Given the description of an element on the screen output the (x, y) to click on. 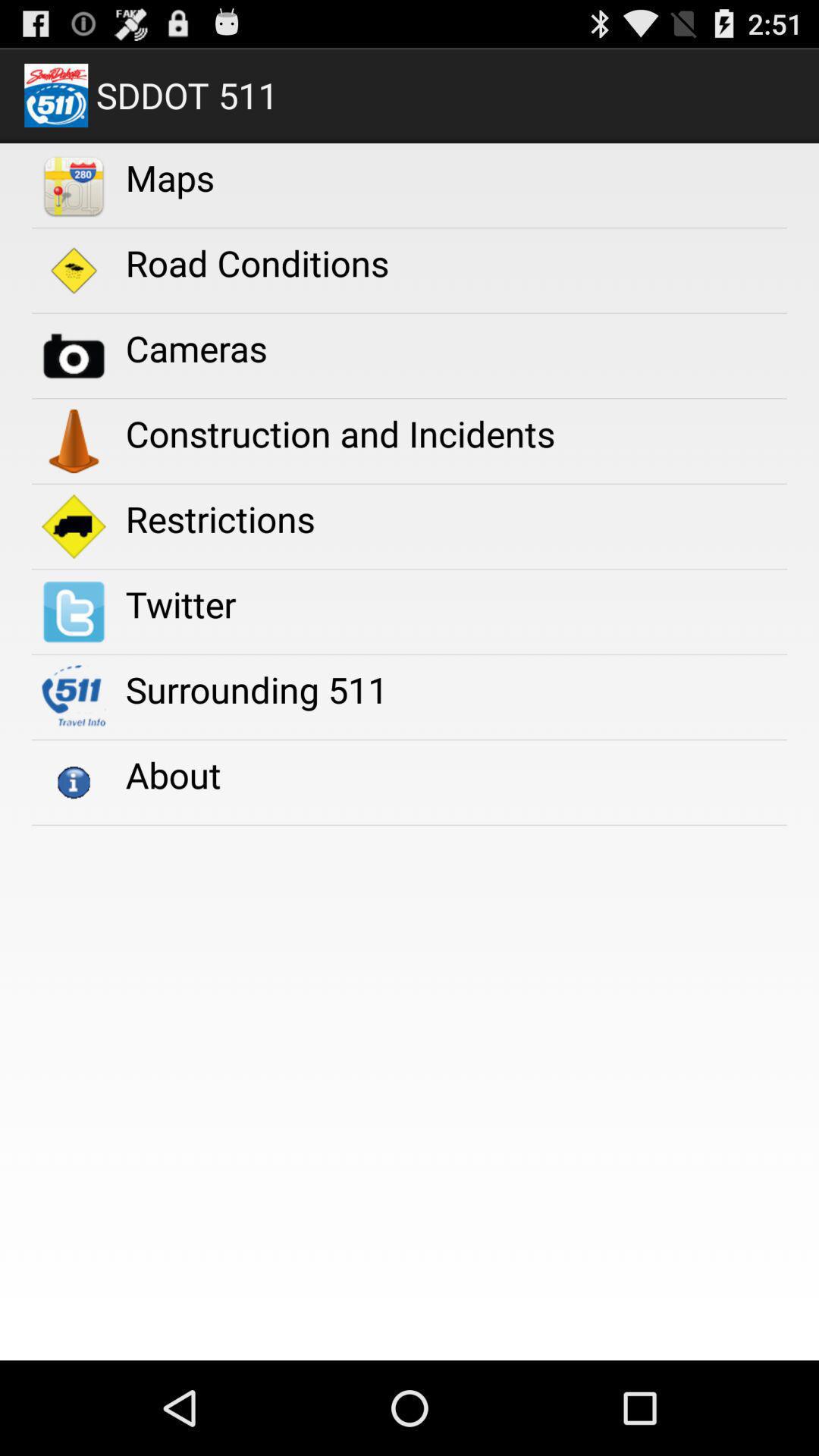
flip until the surrounding 511 icon (256, 689)
